Given the description of an element on the screen output the (x, y) to click on. 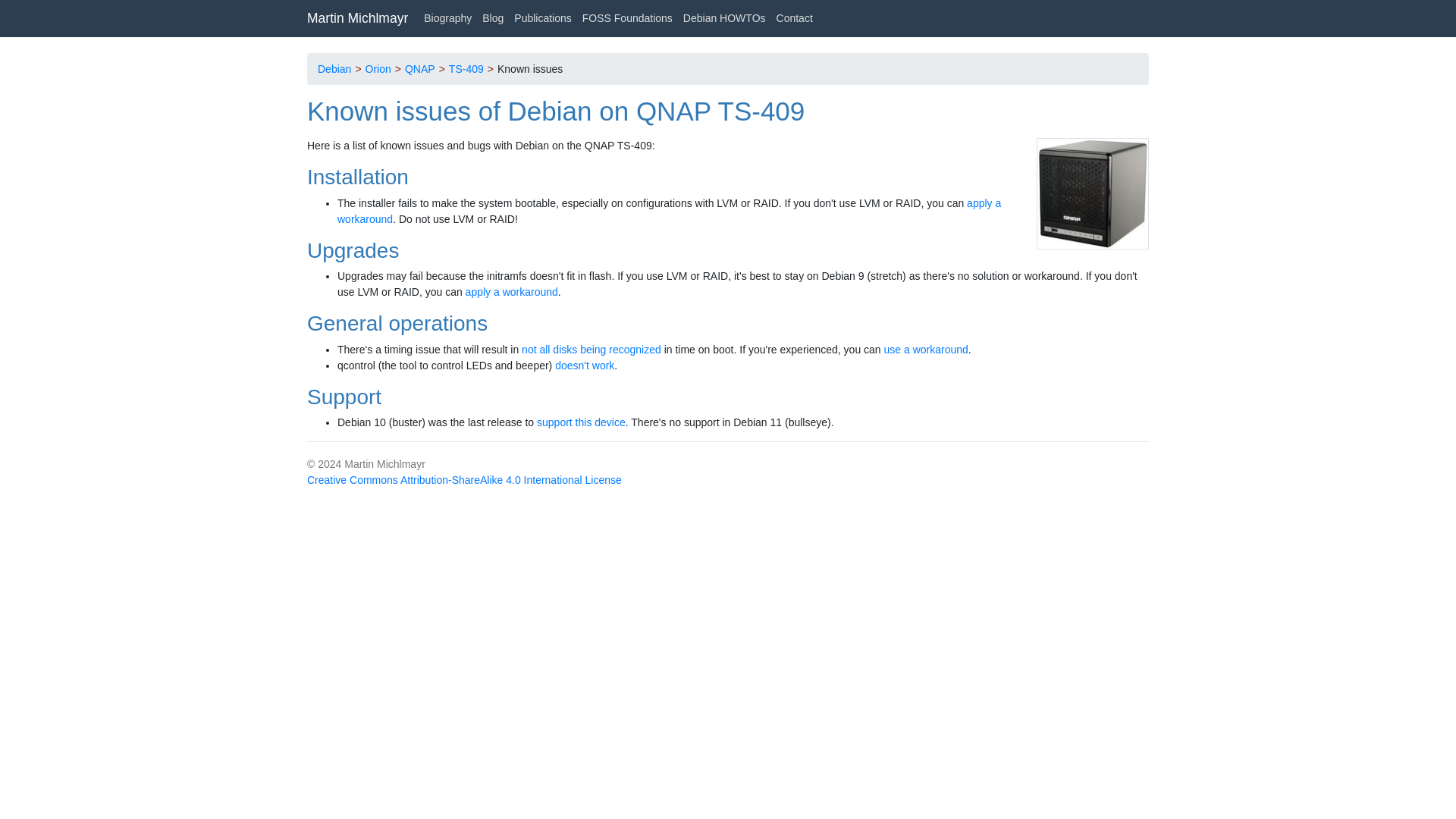
TS-409 (465, 68)
Known issues of Debian on QNAP TS-409 (556, 111)
Biography (448, 17)
Debian HOWTOs (724, 17)
apply a workaround (511, 291)
FOSS Foundations (627, 17)
use a workaround (925, 349)
Orion (378, 68)
QNAP (419, 68)
